Given the description of an element on the screen output the (x, y) to click on. 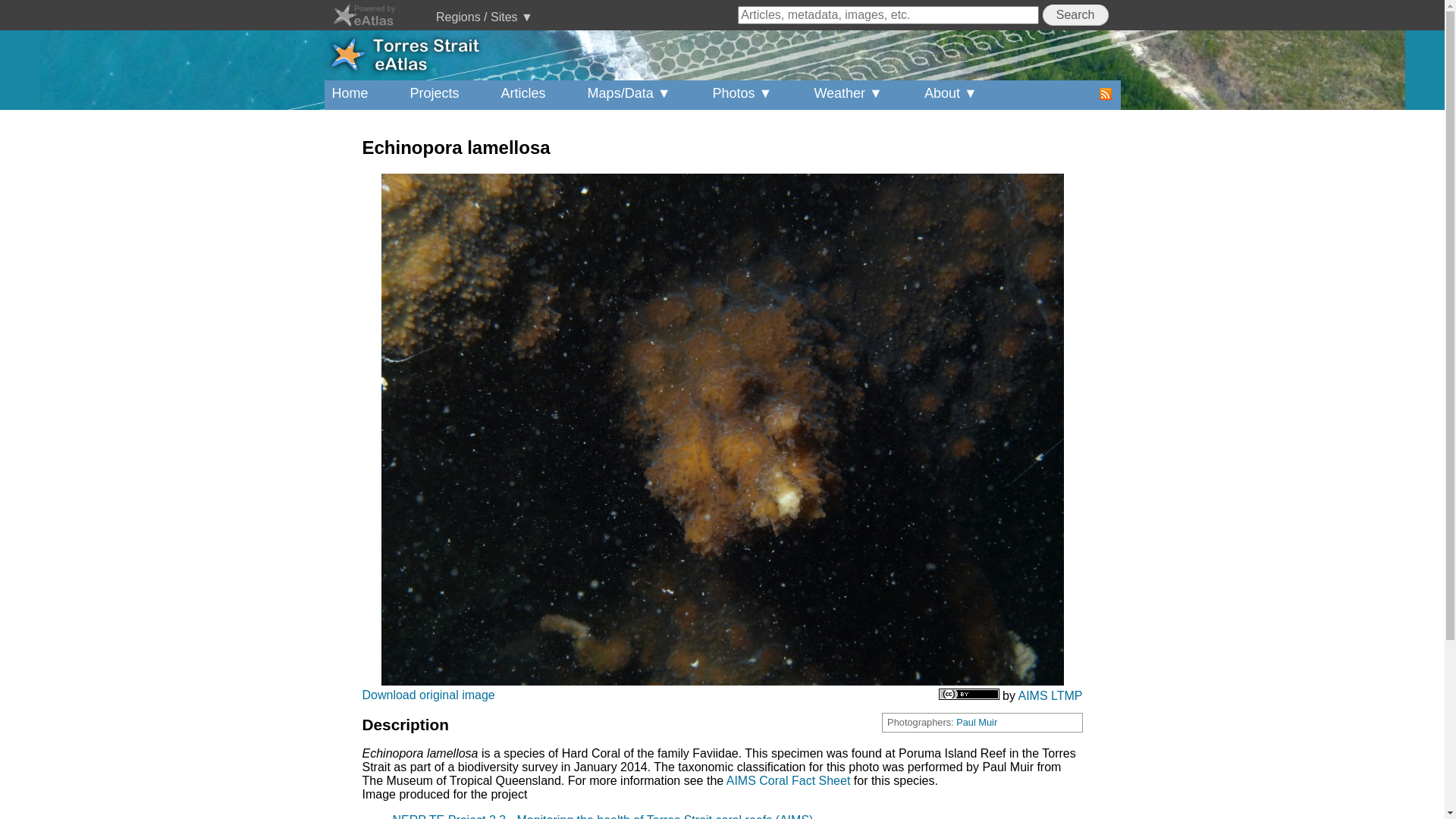
Articles Element type: text (534, 94)
Photos Element type: text (754, 94)
Skip to main content Element type: text (54, 0)
Search for articles, metadata, images, etc. Element type: hover (887, 15)
AIMS LTMP Element type: text (1049, 695)
Download original image Element type: text (428, 694)
Projects Element type: text (445, 94)
RSS Feed Element type: hover (1106, 91)
Search Element type: text (1075, 14)
Home Element type: text (361, 94)
Regions / Sites Element type: text (495, 20)
Maps/Data Element type: text (640, 94)
eAtlas Element type: hover (374, 10)
Attribution Element type: hover (968, 693)
Weather Element type: text (859, 94)
About Element type: text (961, 94)
Paul Muir Element type: text (976, 722)
AIMS Coral Fact Sheet Element type: text (788, 780)
